Given the description of an element on the screen output the (x, y) to click on. 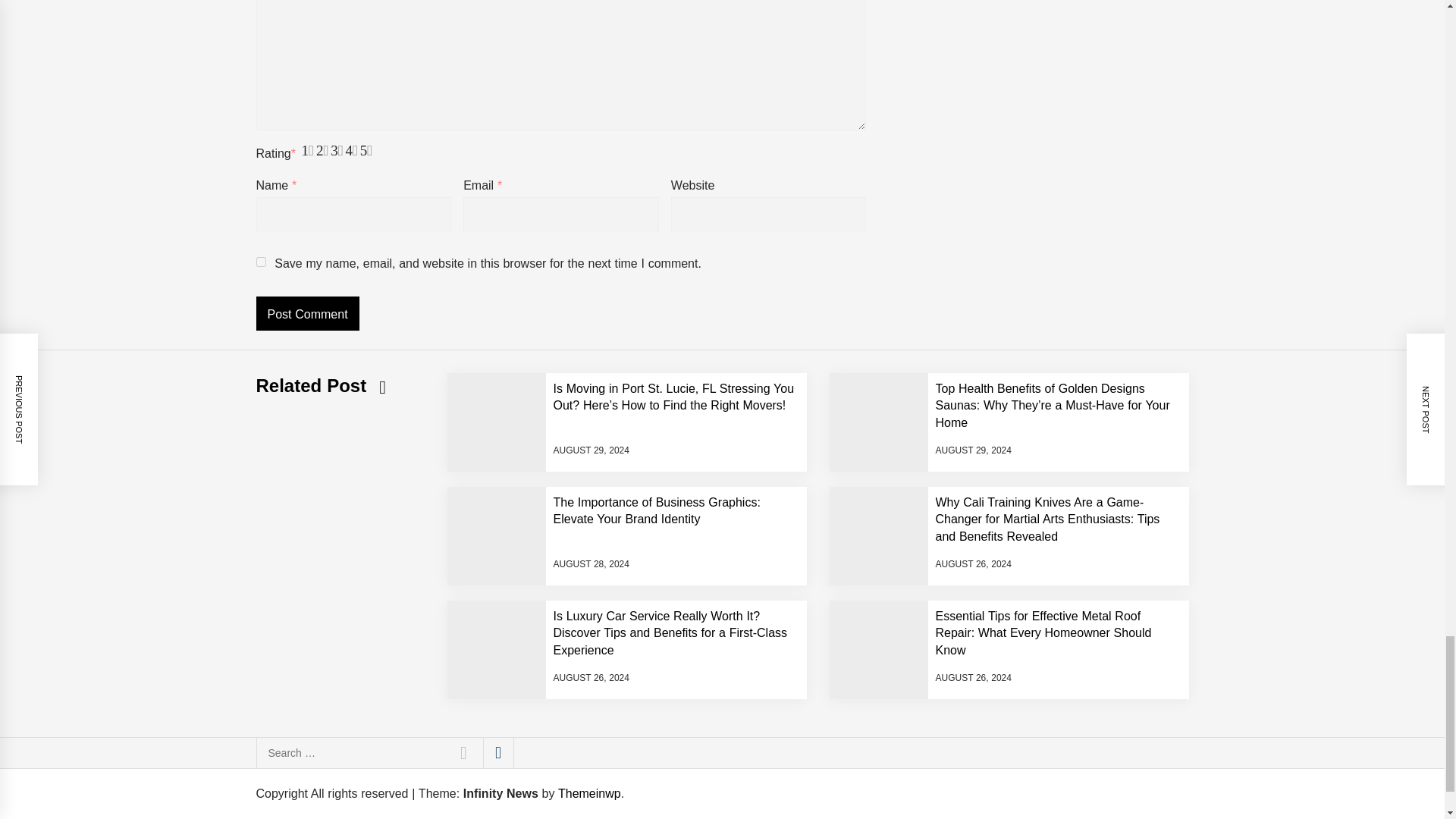
Search (462, 752)
Post Comment (307, 313)
Search (462, 752)
yes (261, 261)
